Given the description of an element on the screen output the (x, y) to click on. 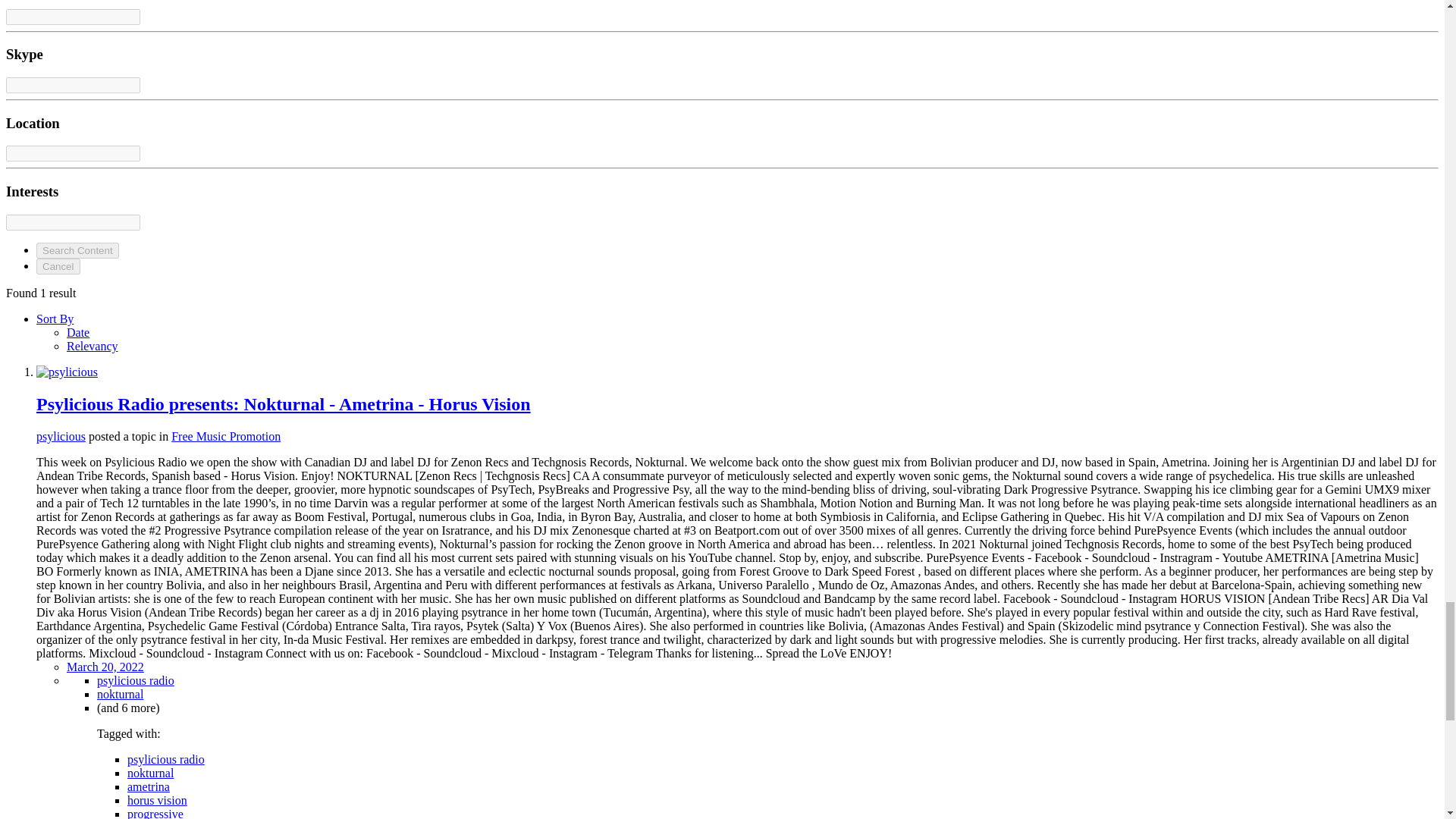
Find other content tagged with 'ametrina' (149, 786)
Go to psylicious's profile (60, 436)
Find other content tagged with 'psylicious radio' (135, 680)
Find other content tagged with 'nokturnal' (119, 694)
Find other content tagged with 'psylicious radio' (166, 758)
Find other content tagged with 'nokturnal' (150, 772)
Find other content tagged with 'horus vision' (157, 799)
Go to psylicious's profile (66, 371)
Find other content tagged with 'progressive' (155, 813)
